Given the description of an element on the screen output the (x, y) to click on. 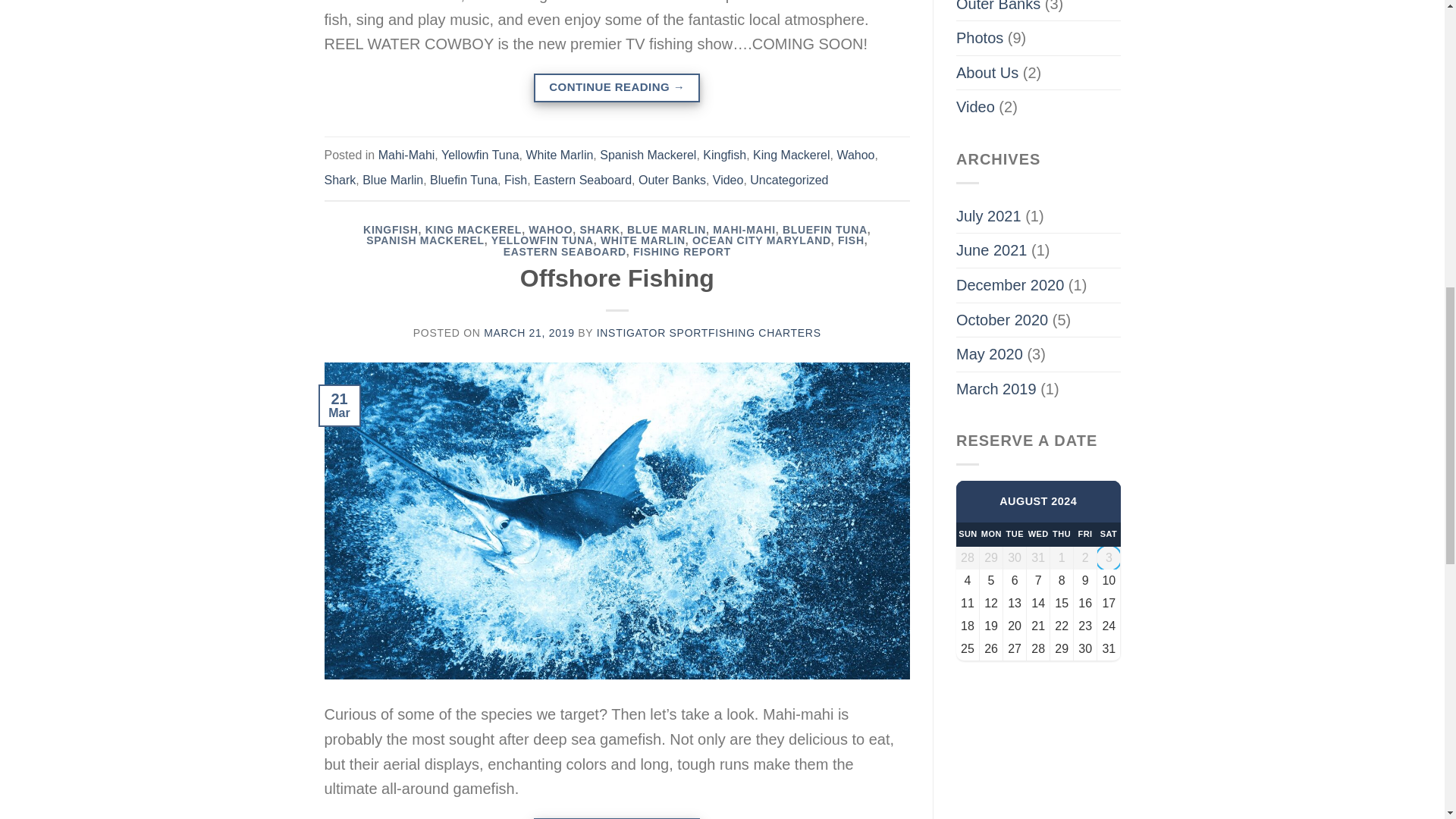
Spanish Mackerel (647, 154)
Mahi-Mahi (406, 154)
Yellowfin Tuna (480, 154)
Kingfish (724, 154)
White Marlin (558, 154)
